Given the description of an element on the screen output the (x, y) to click on. 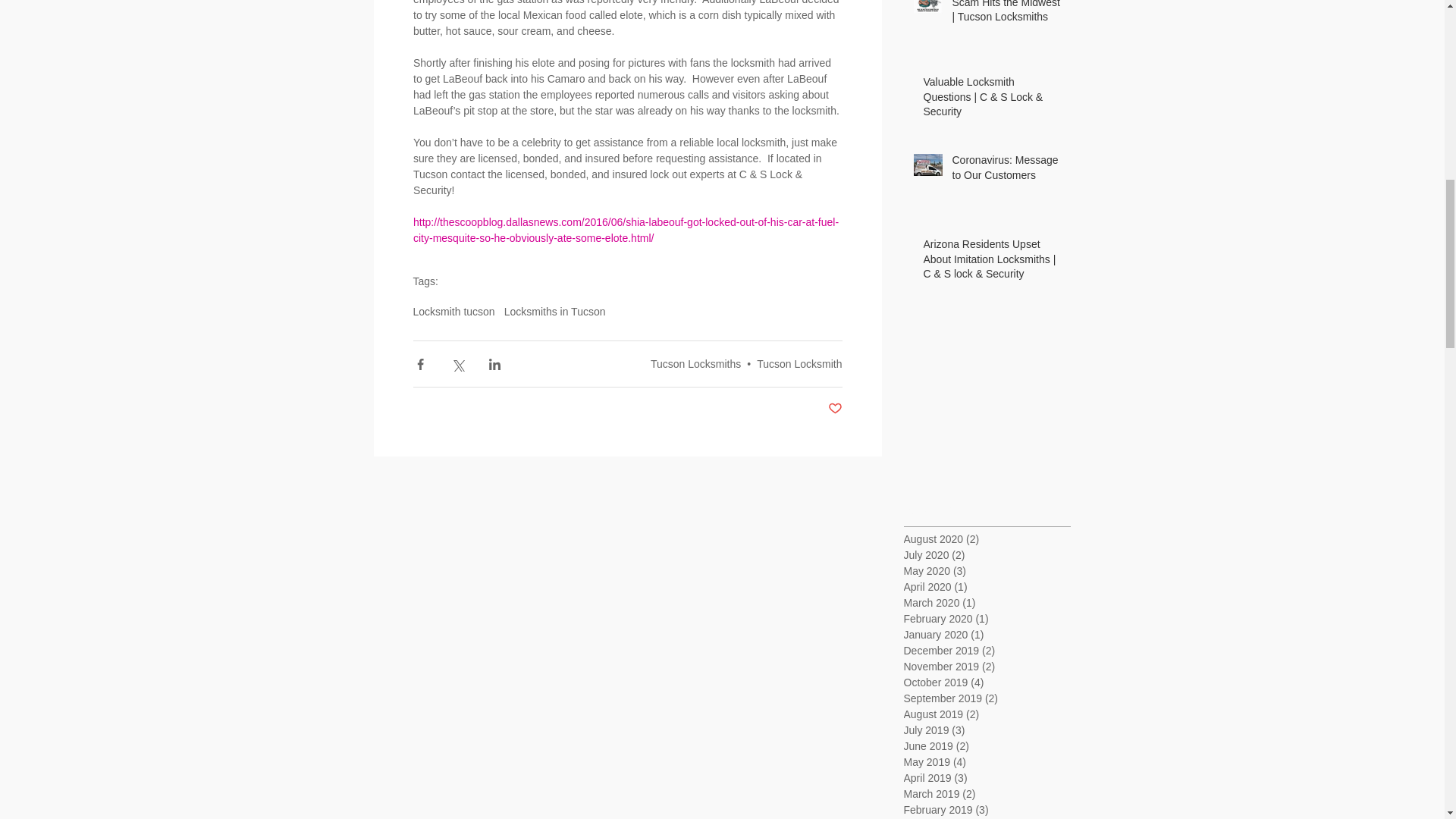
Locksmith tucson (453, 311)
Locksmiths in Tucson (554, 311)
Post not marked as liked (835, 408)
Tucson Locksmiths (695, 363)
Tucson Locksmith (799, 363)
Coronavirus: Message to Our Customers (1006, 171)
